Given the description of an element on the screen output the (x, y) to click on. 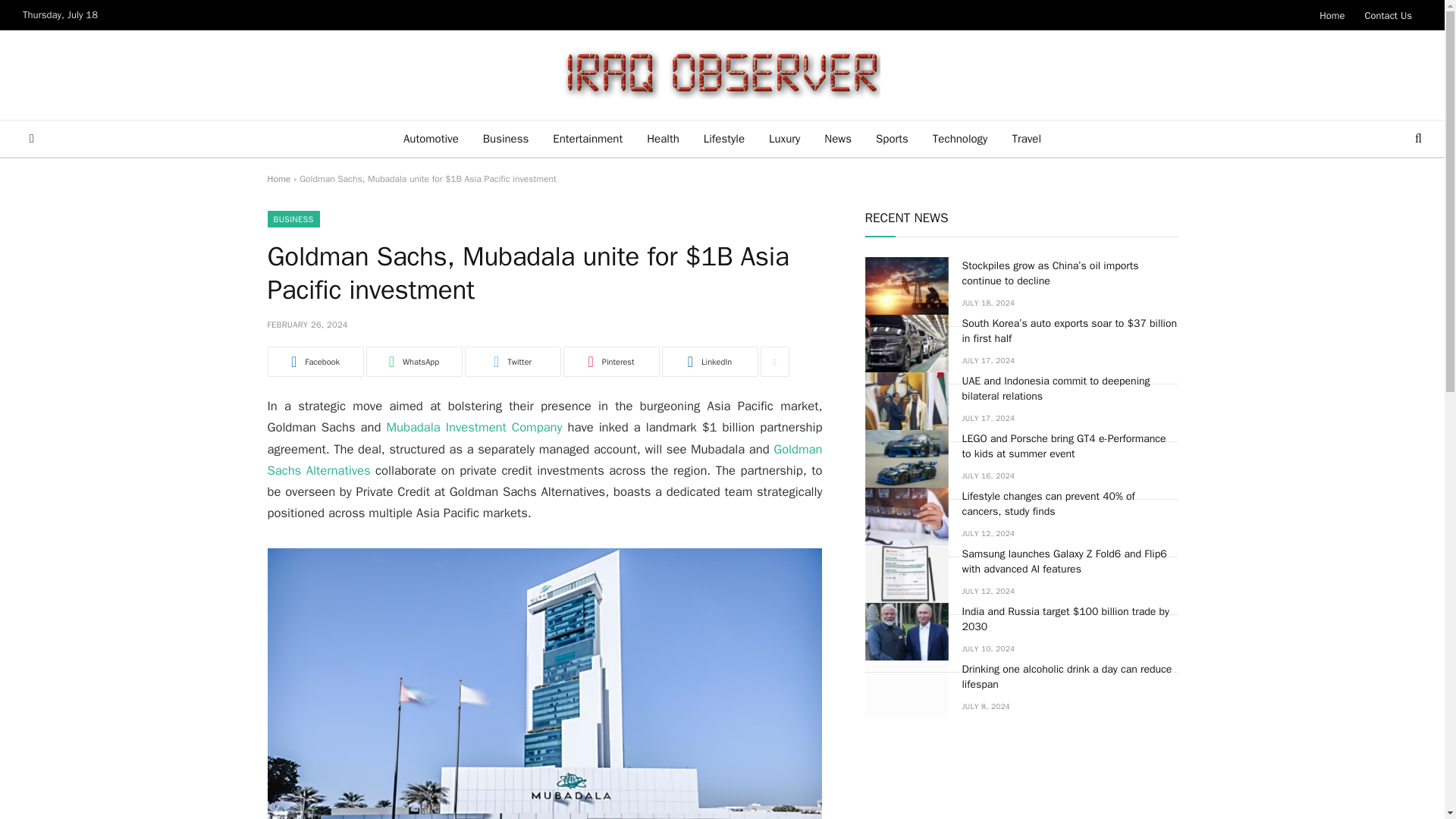
Entertainment (587, 138)
Share on Facebook (314, 361)
Twitter (512, 361)
Home (277, 178)
Sports (891, 138)
News (837, 138)
Business (505, 138)
LinkedIn (709, 361)
Home (1331, 15)
Pinterest (610, 361)
Automotive (430, 138)
Health (662, 138)
Share on Pinterest (610, 361)
Facebook (314, 361)
Travel (1025, 138)
